Given the description of an element on the screen output the (x, y) to click on. 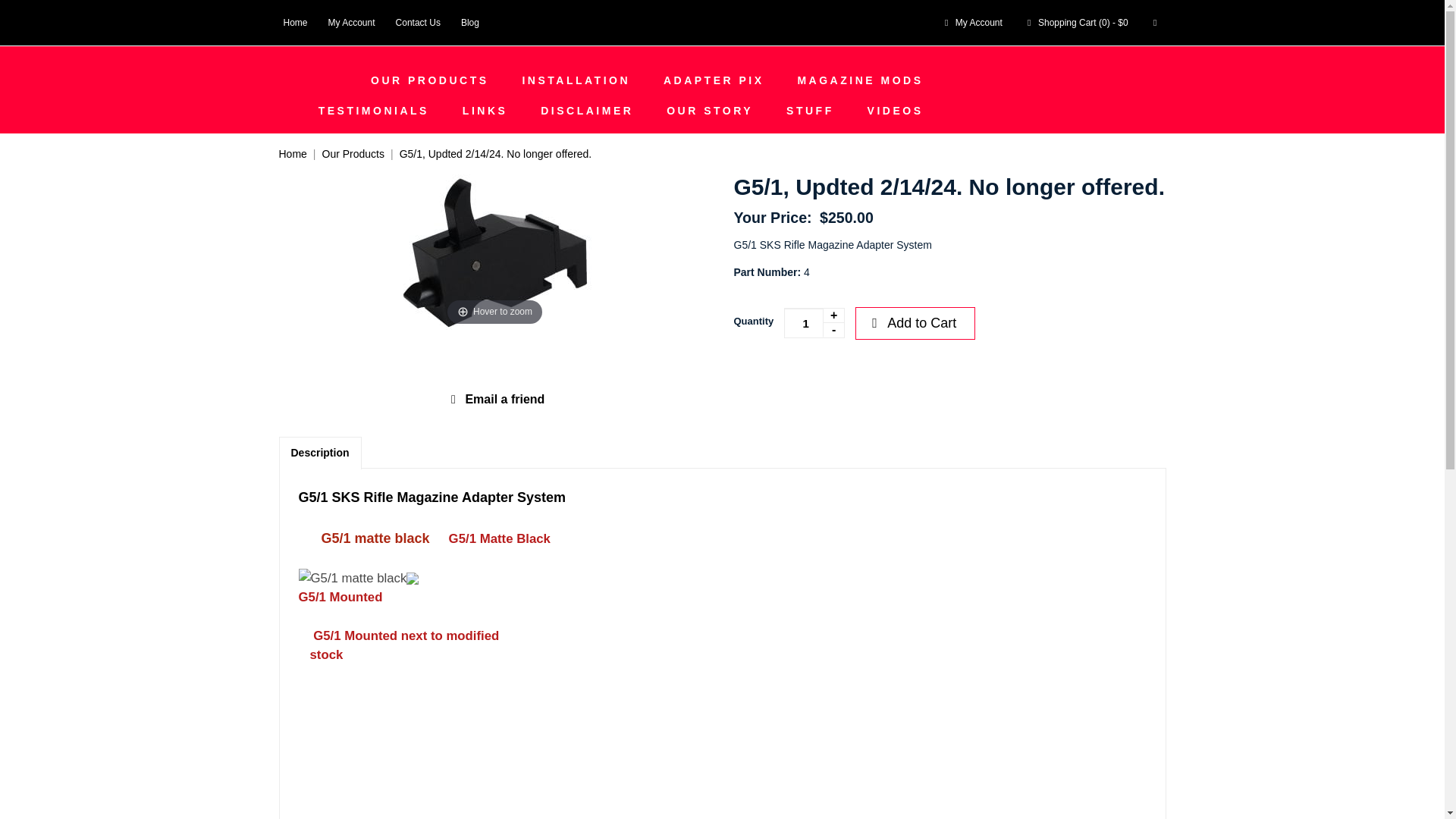
DISCLAIMER (586, 110)
MAGAZINE MODS (859, 80)
OUR PRODUCTS (429, 80)
INSTALLATION (575, 80)
Contact Us (418, 22)
Blog (470, 22)
VIDEOS (895, 110)
ADAPTER PIX (712, 80)
Search (1155, 22)
LINKS (484, 110)
- (833, 329)
Our Products (352, 153)
My Account (971, 22)
Home (293, 153)
Home (296, 22)
